Given the description of an element on the screen output the (x, y) to click on. 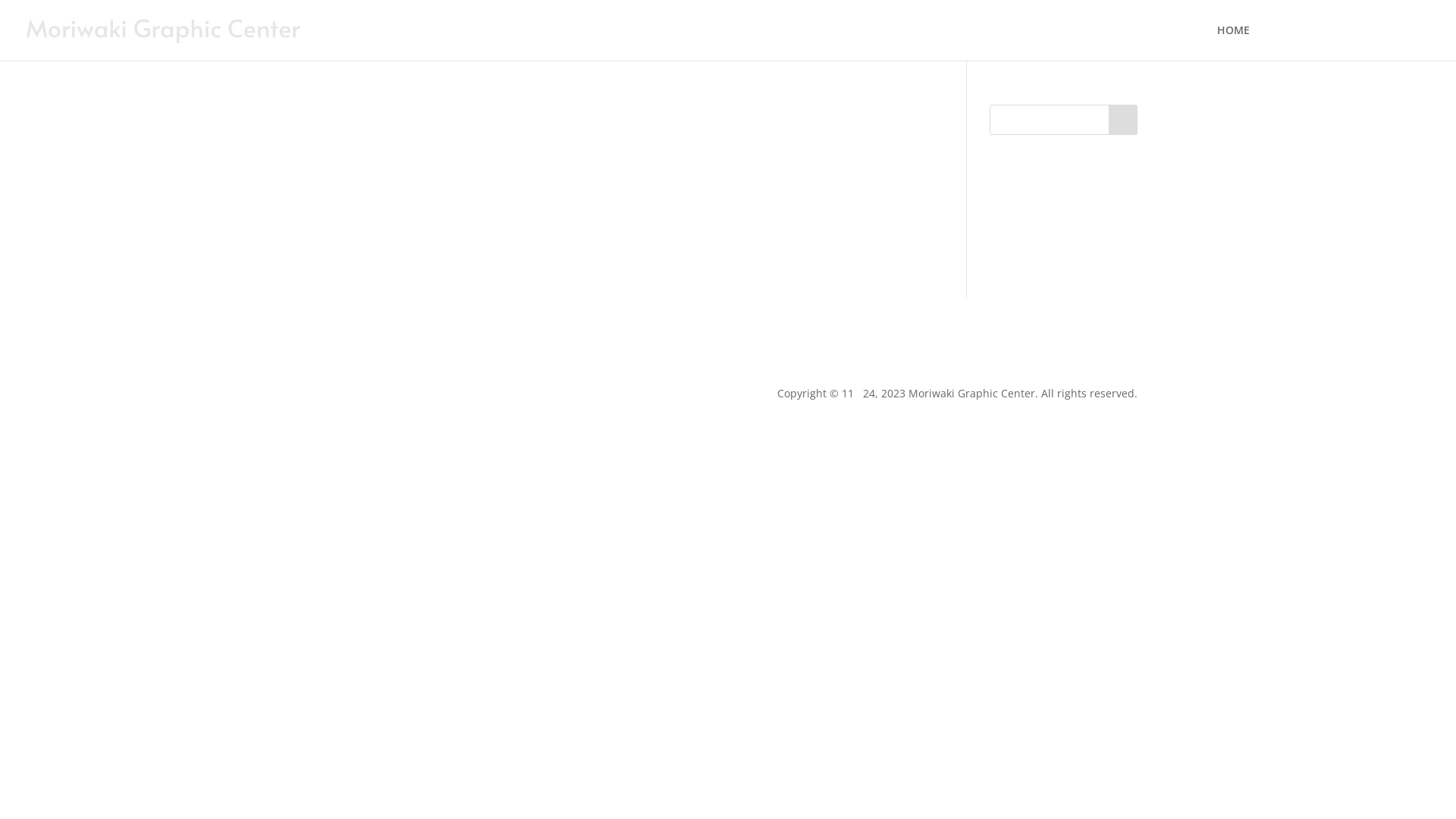
HOME Element type: text (1233, 42)
